Given the description of an element on the screen output the (x, y) to click on. 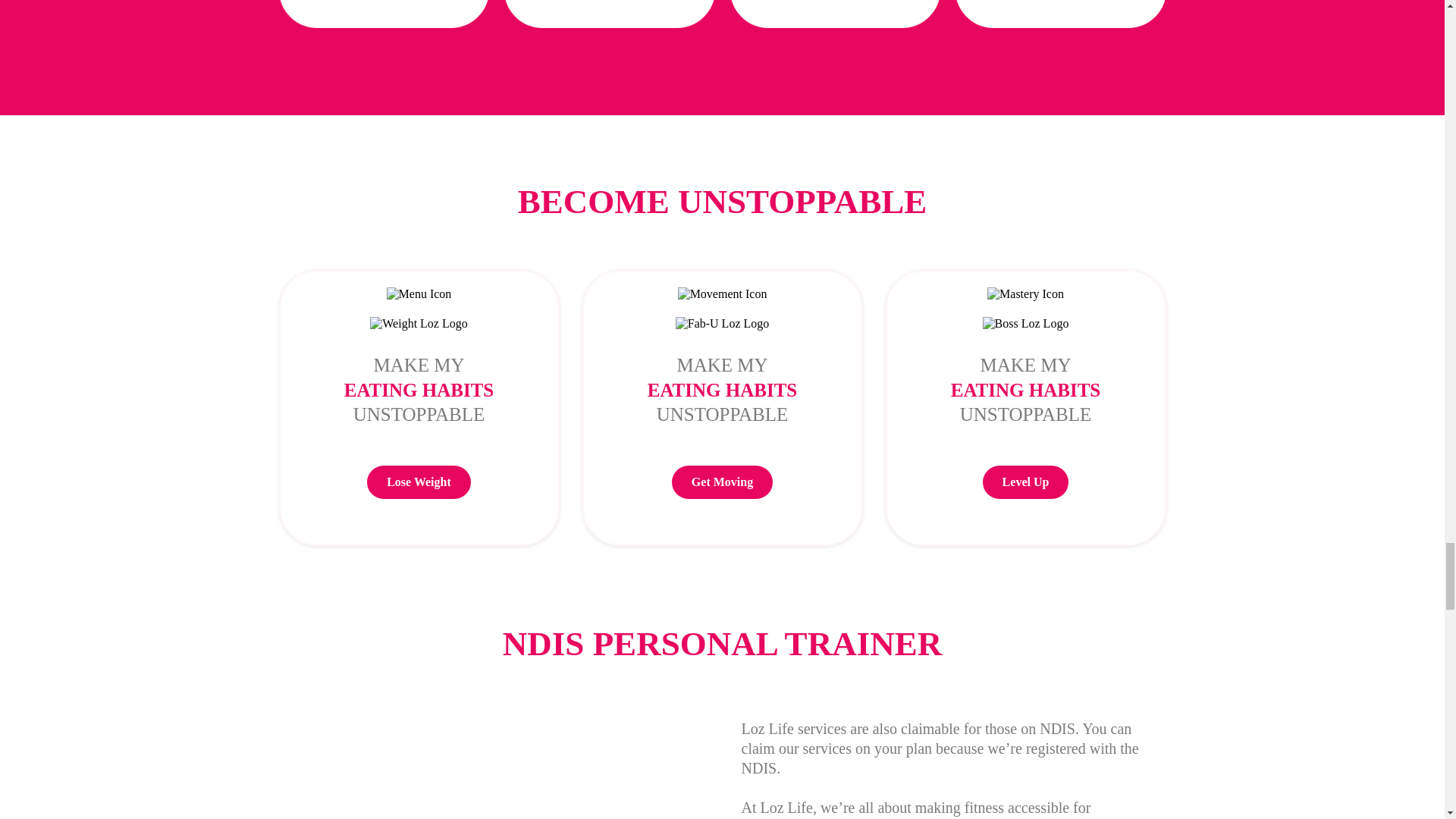
Lose Weight (418, 482)
Level Up (1025, 482)
Get Moving (722, 482)
